Given the description of an element on the screen output the (x, y) to click on. 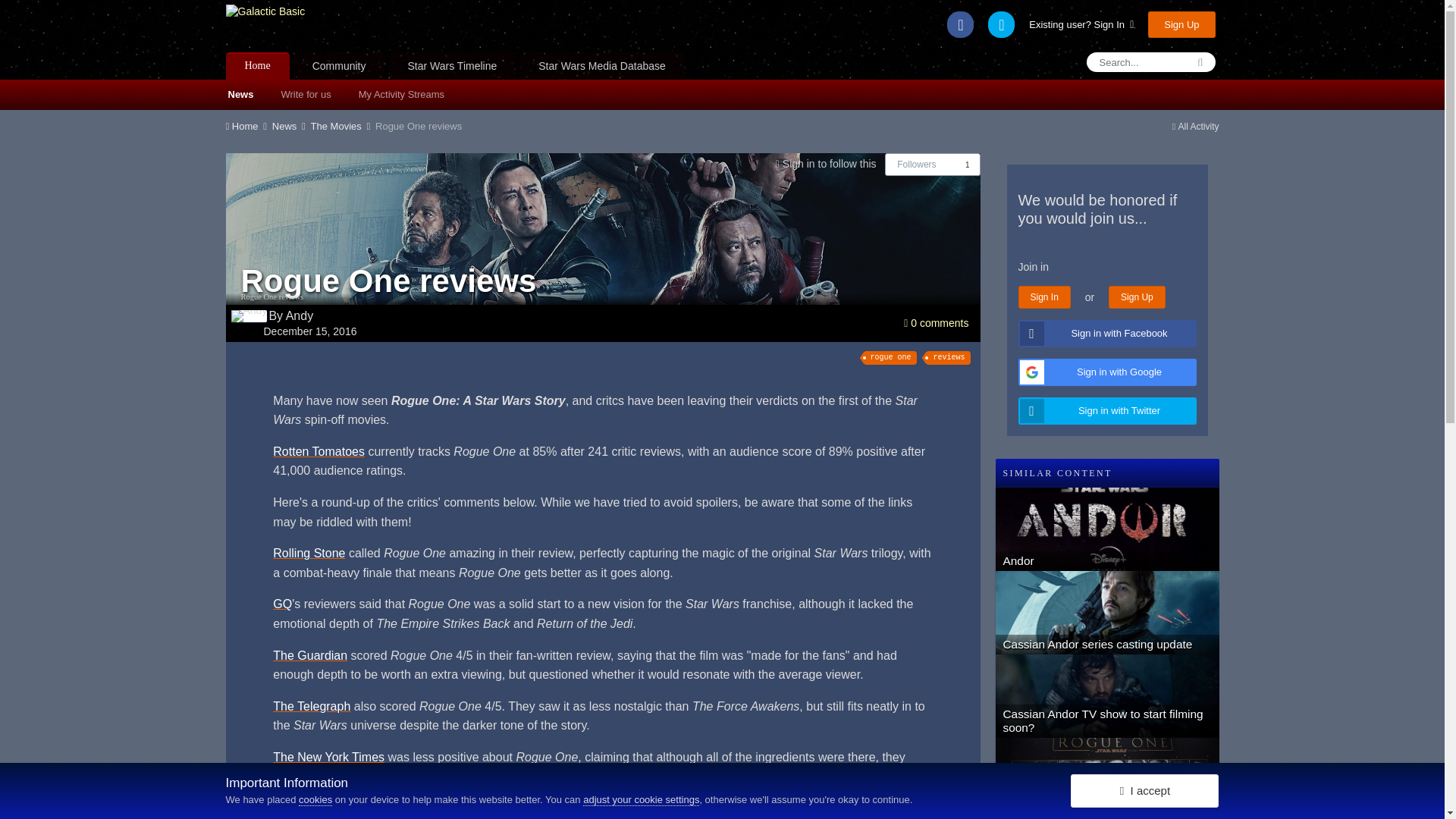
Sign Up (1181, 24)
Star Wars Media Database (601, 65)
Write for us (304, 94)
Existing user? Sign In   (1081, 24)
Home (247, 125)
Find other content tagged with 'reviews' (948, 357)
Go to the sign in page (829, 163)
See who follows this (910, 164)
View comments (936, 322)
Home (257, 65)
Community (339, 65)
Find other content tagged with 'rogue one' (890, 357)
See who follows this (967, 165)
Star Wars Timeline (452, 65)
My Activity Streams (401, 94)
